Given the description of an element on the screen output the (x, y) to click on. 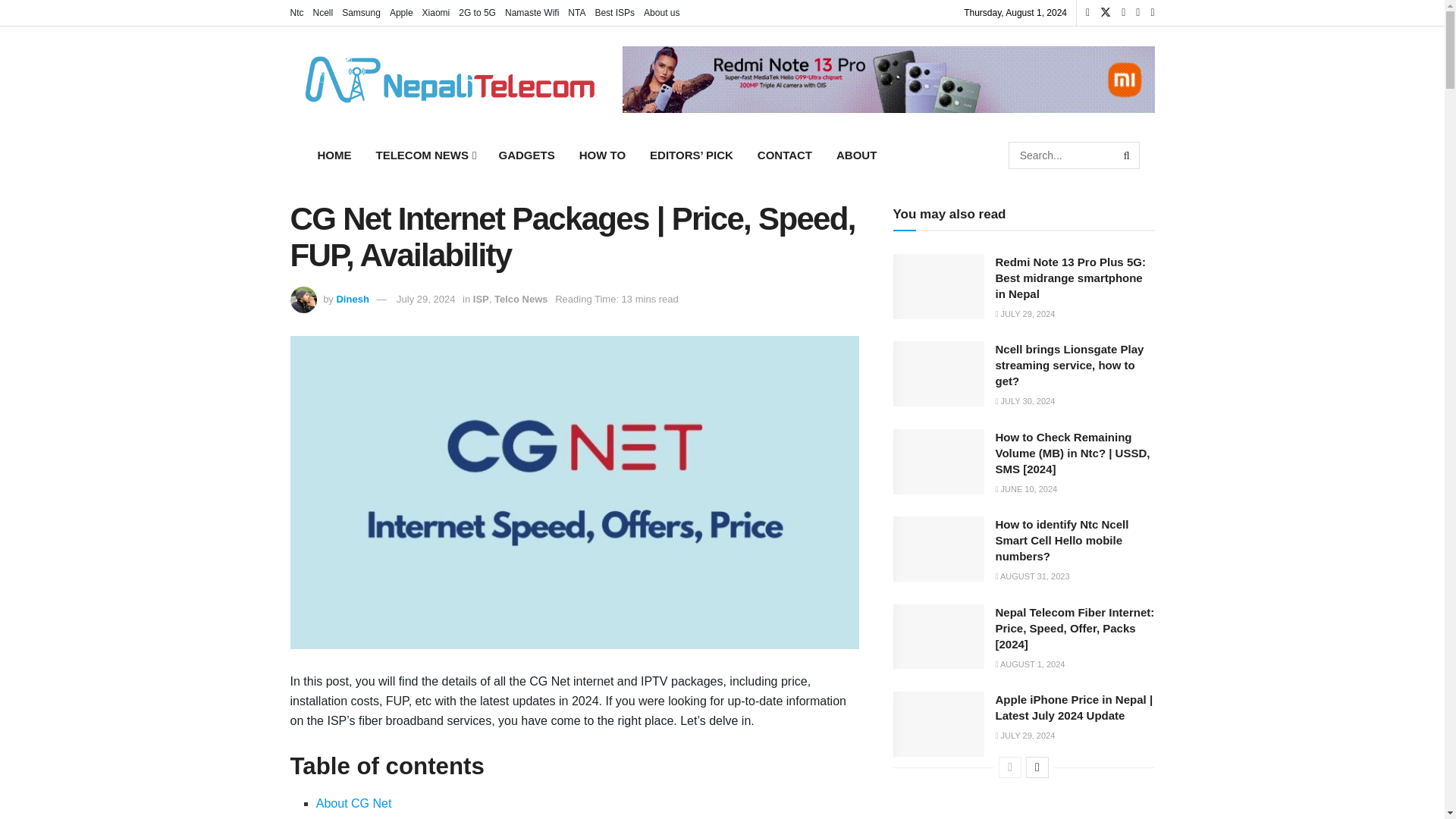
Apple (401, 12)
Xiaomi (435, 12)
Previous (1010, 767)
2G to 5G (477, 12)
Namaste Wifi (532, 12)
HOME (333, 155)
ABOUT (856, 155)
Best ISPs (614, 12)
TELECOM NEWS (425, 155)
About us (661, 12)
GADGETS (526, 155)
Next (1037, 767)
Samsung (361, 12)
CONTACT (784, 155)
HOW TO (602, 155)
